Given the description of an element on the screen output the (x, y) to click on. 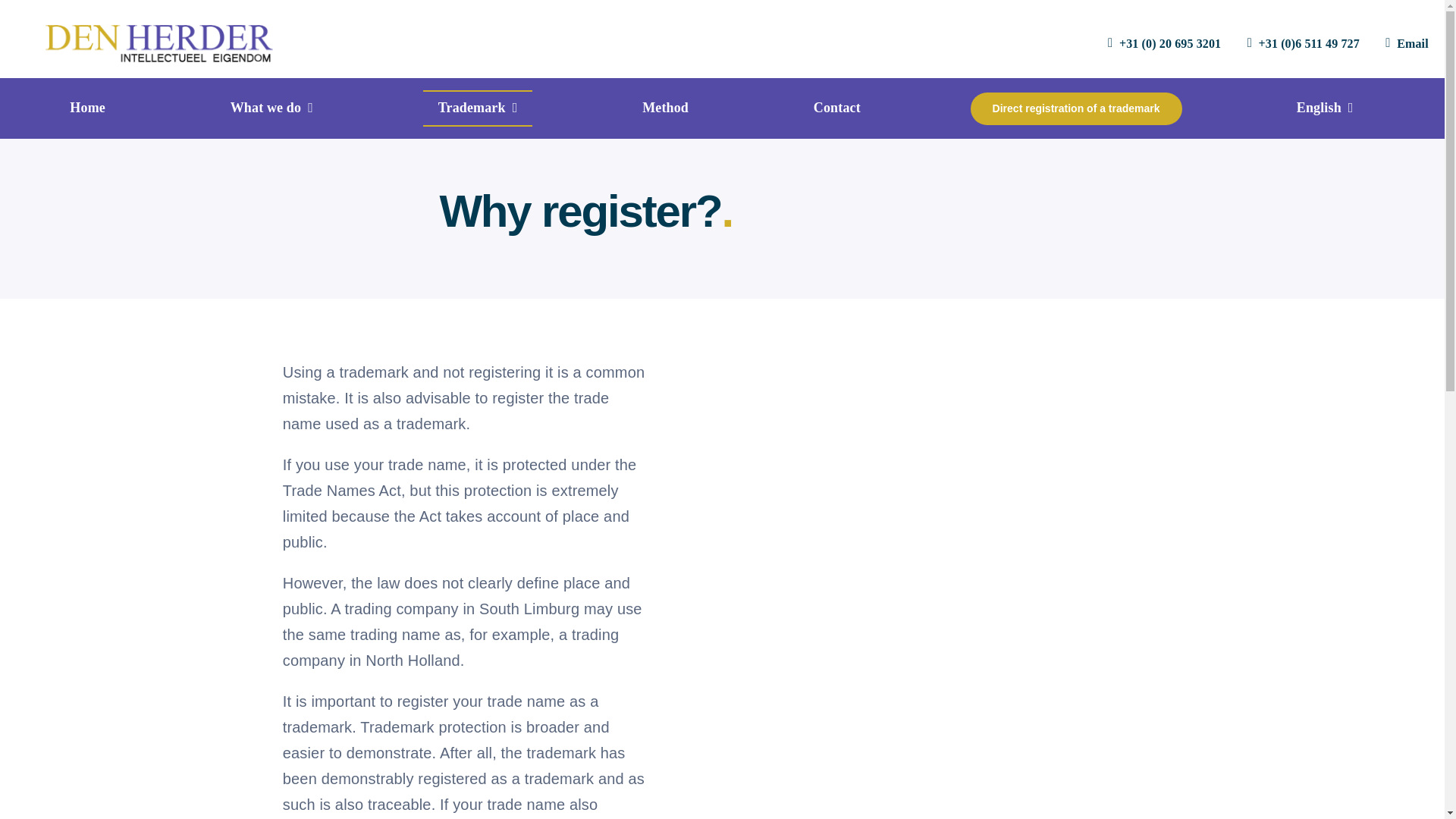
English (1322, 108)
English (1322, 108)
Email (1403, 42)
Direct registration of a trademark (1076, 108)
Method (665, 108)
Home (87, 108)
Trademark (477, 108)
What we do (272, 108)
